Given the description of an element on the screen output the (x, y) to click on. 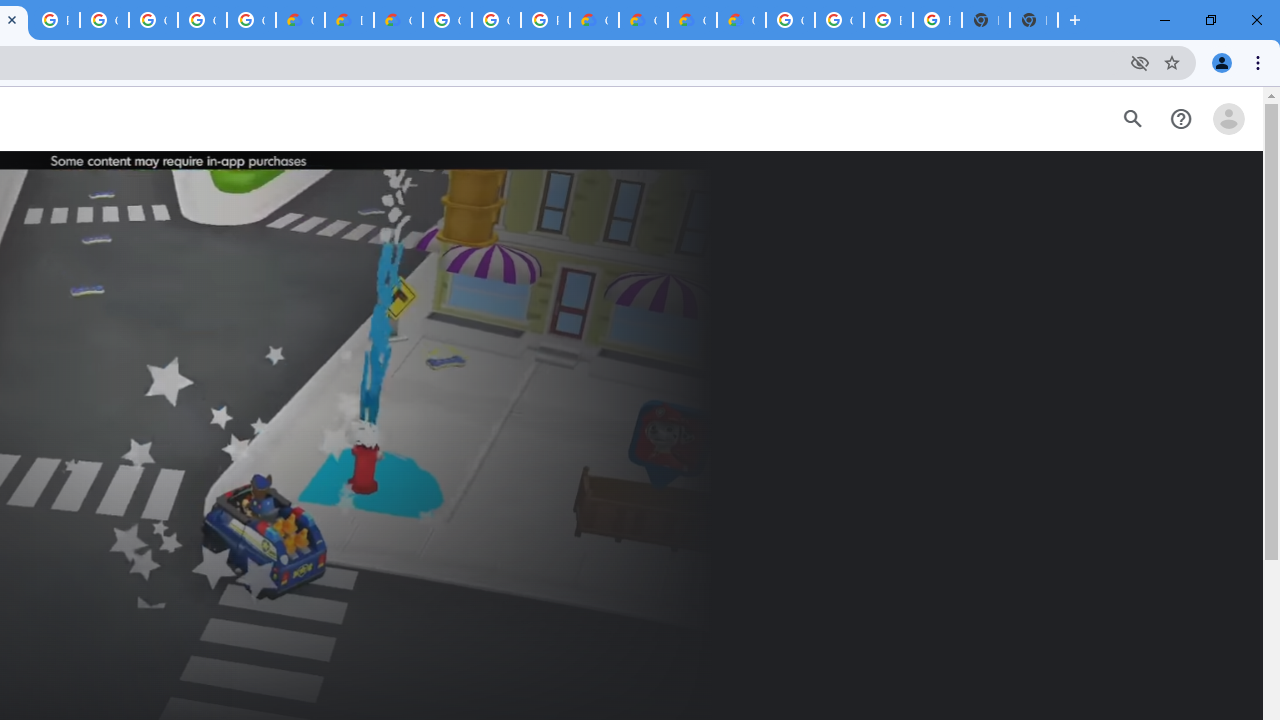
Google Cloud Platform (447, 20)
New Tab (1033, 20)
Google Cloud Pricing Calculator (643, 20)
Google Workspace - Specific Terms (201, 20)
Gemini for Business and Developers | Google Cloud (398, 20)
